Given the description of an element on the screen output the (x, y) to click on. 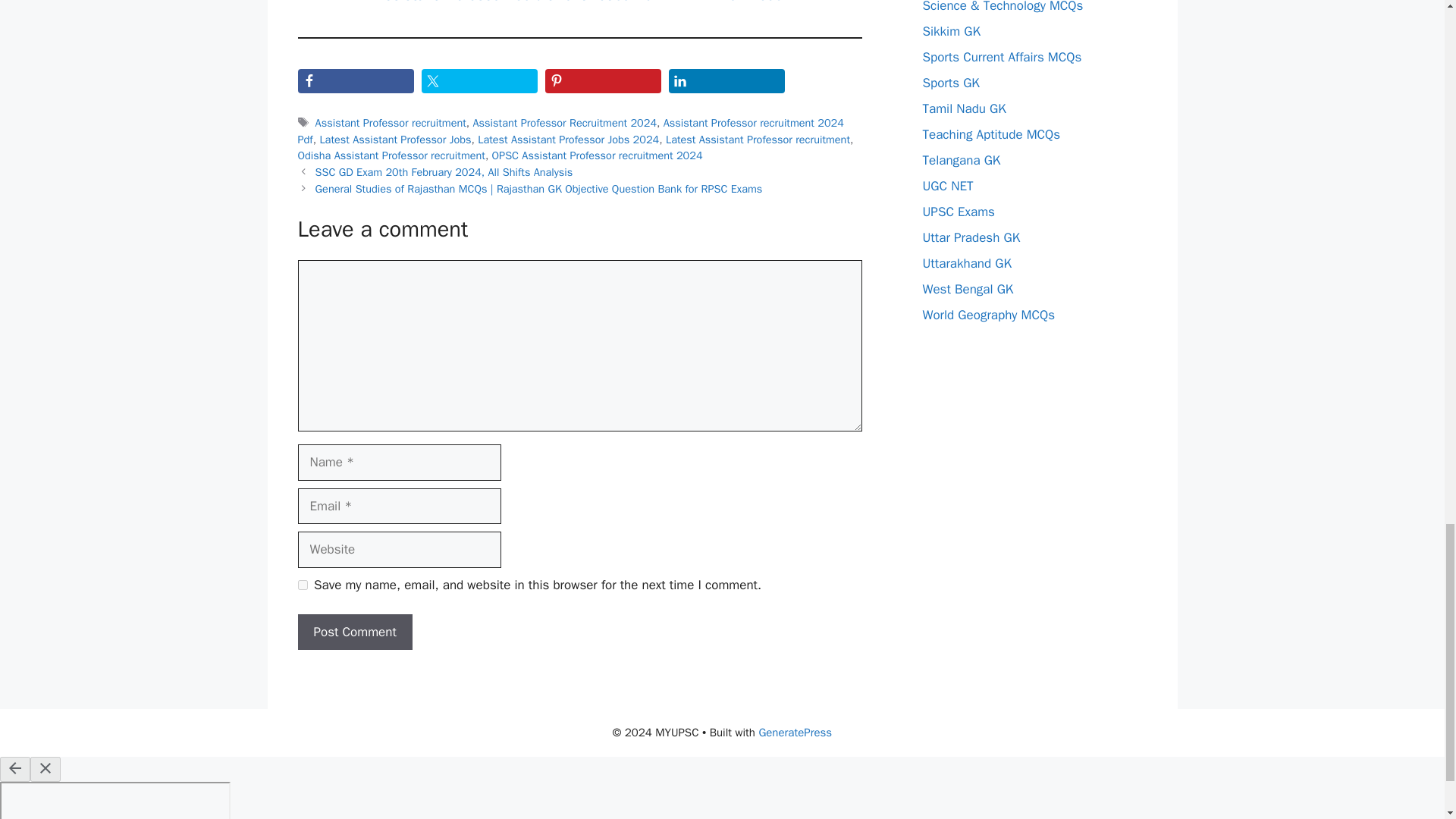
Share on Facebook (355, 80)
yes (302, 584)
Share on Twitter (479, 80)
Post Comment (354, 632)
Share on Pinterest (602, 80)
Share on LinkedIn (726, 80)
